Given the description of an element on the screen output the (x, y) to click on. 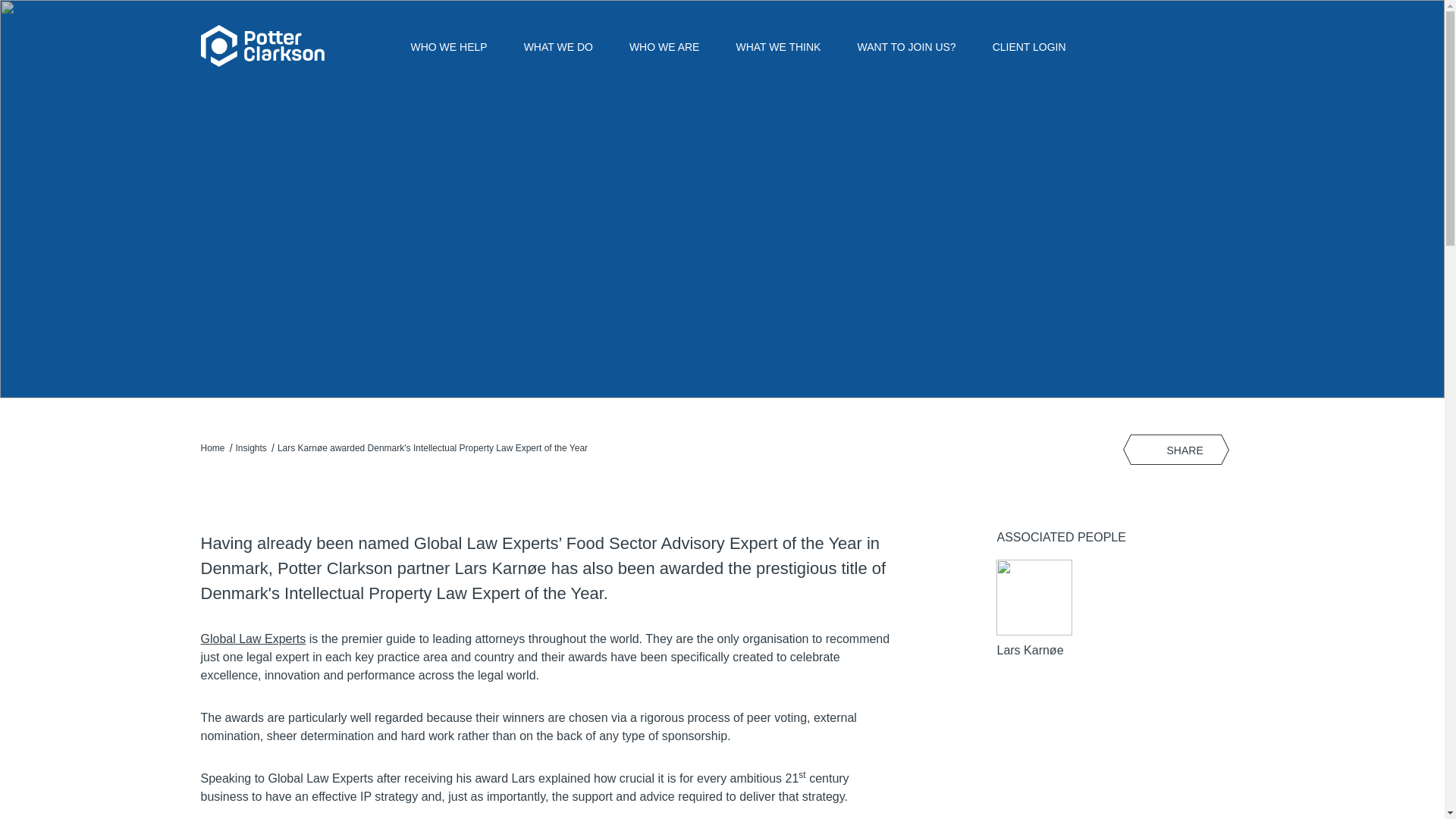
WHO WE HELP (448, 44)
Menu (1231, 45)
WHO WE ARE (664, 44)
WHAT WE THINK (778, 44)
Share on Twitter. Opens in new tab (1139, 449)
WHAT WE DO (558, 44)
Share by email. Opens in new tab (1221, 449)
SEARCH (1170, 45)
Share on LinkedIn. Opens in new tab (1180, 449)
